Given the description of an element on the screen output the (x, y) to click on. 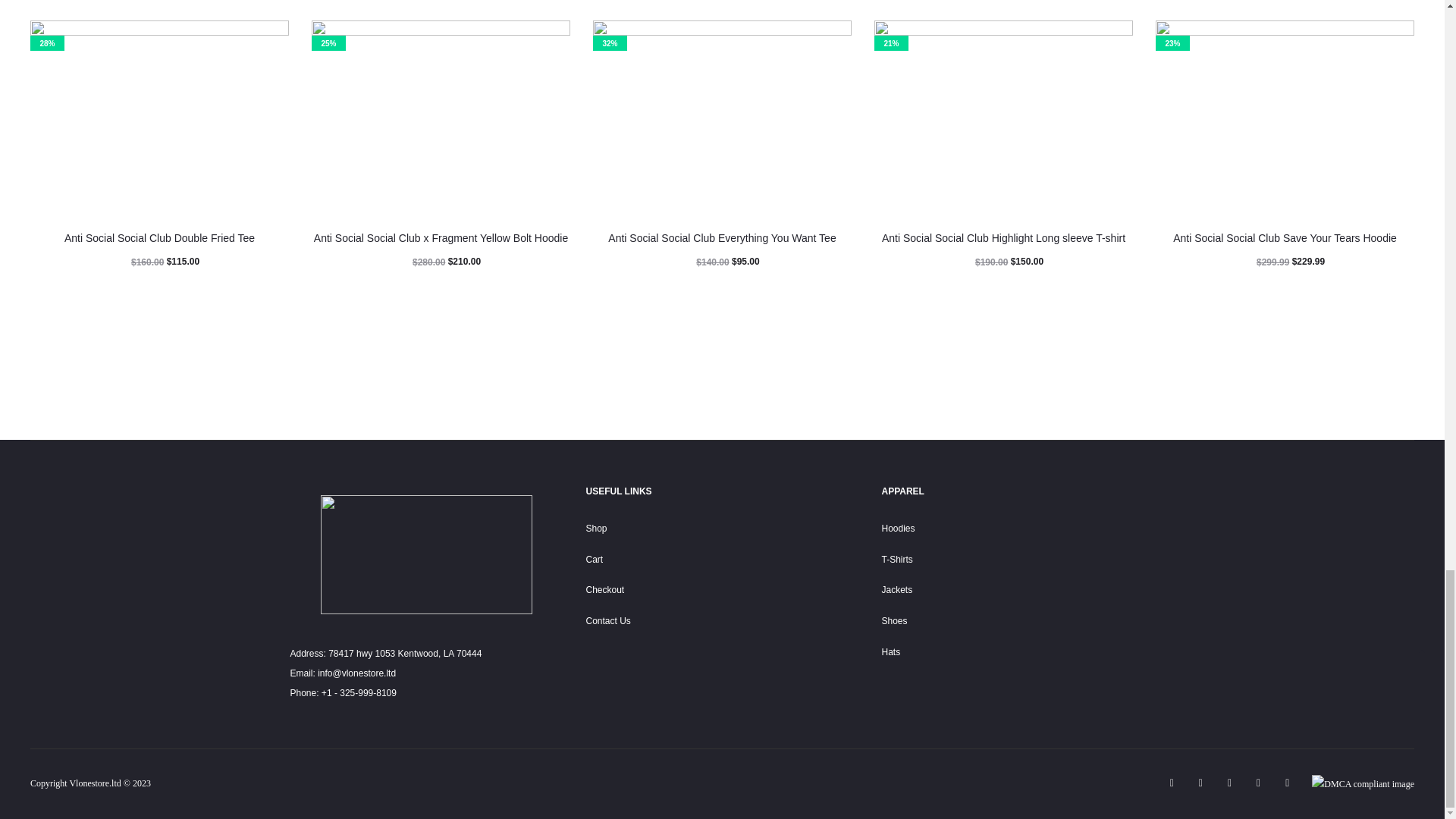
DMCA Compliance information for vlonestore.ltd (1362, 783)
